Given the description of an element on the screen output the (x, y) to click on. 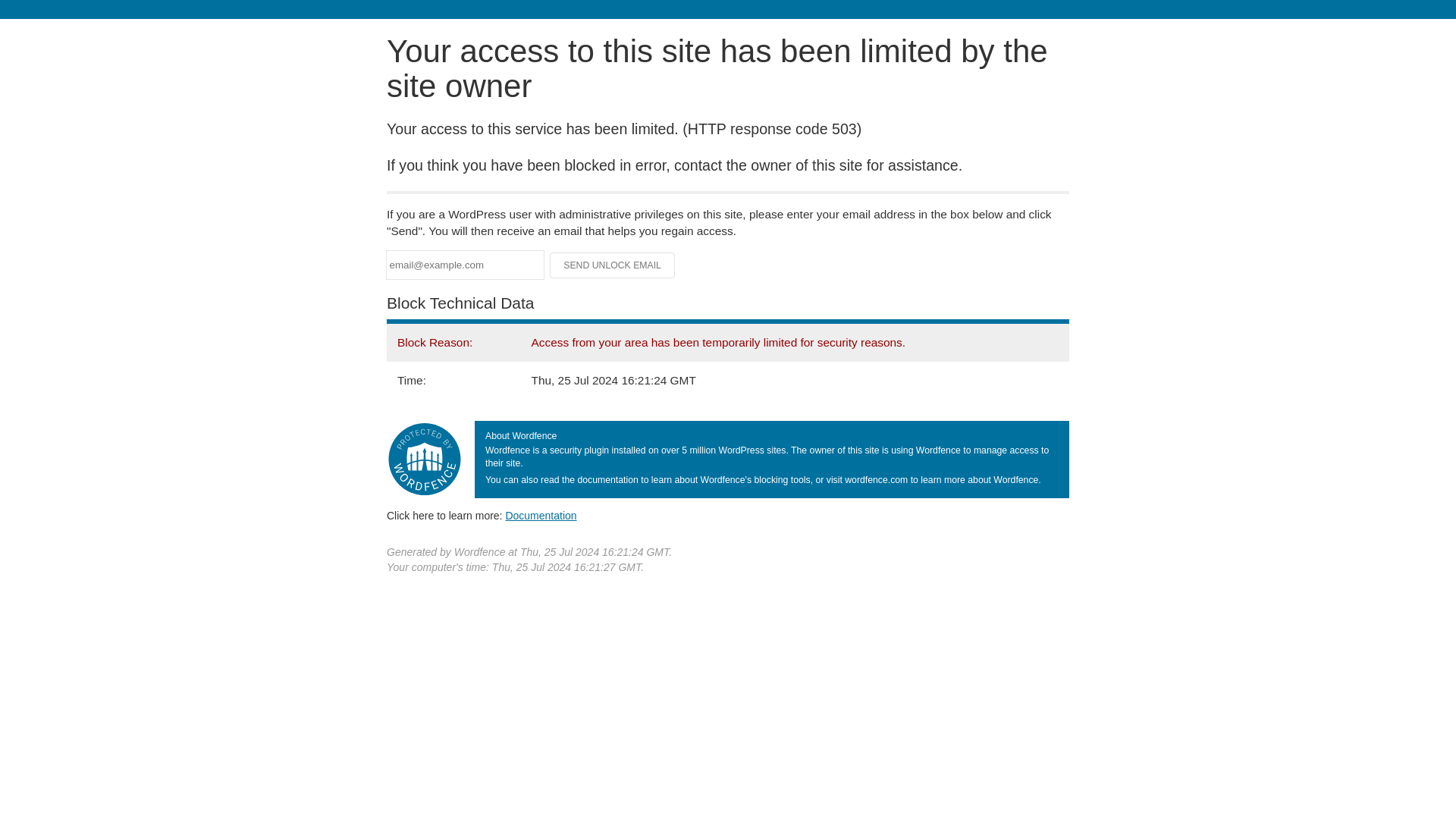
Send Unlock Email (612, 265)
Documentation (540, 515)
Send Unlock Email (612, 265)
